Given the description of an element on the screen output the (x, y) to click on. 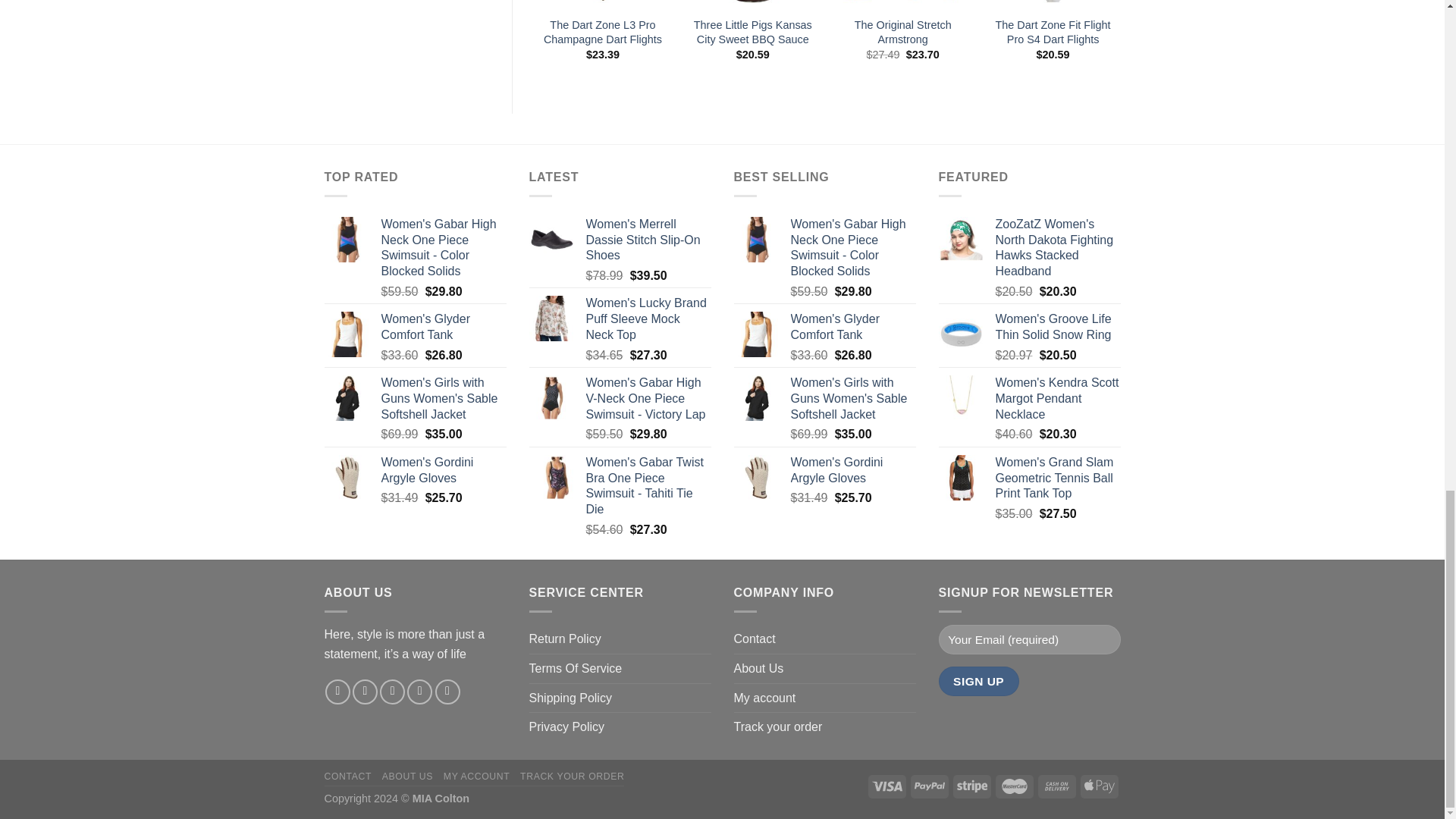
Sign Up (979, 681)
